Given the description of an element on the screen output the (x, y) to click on. 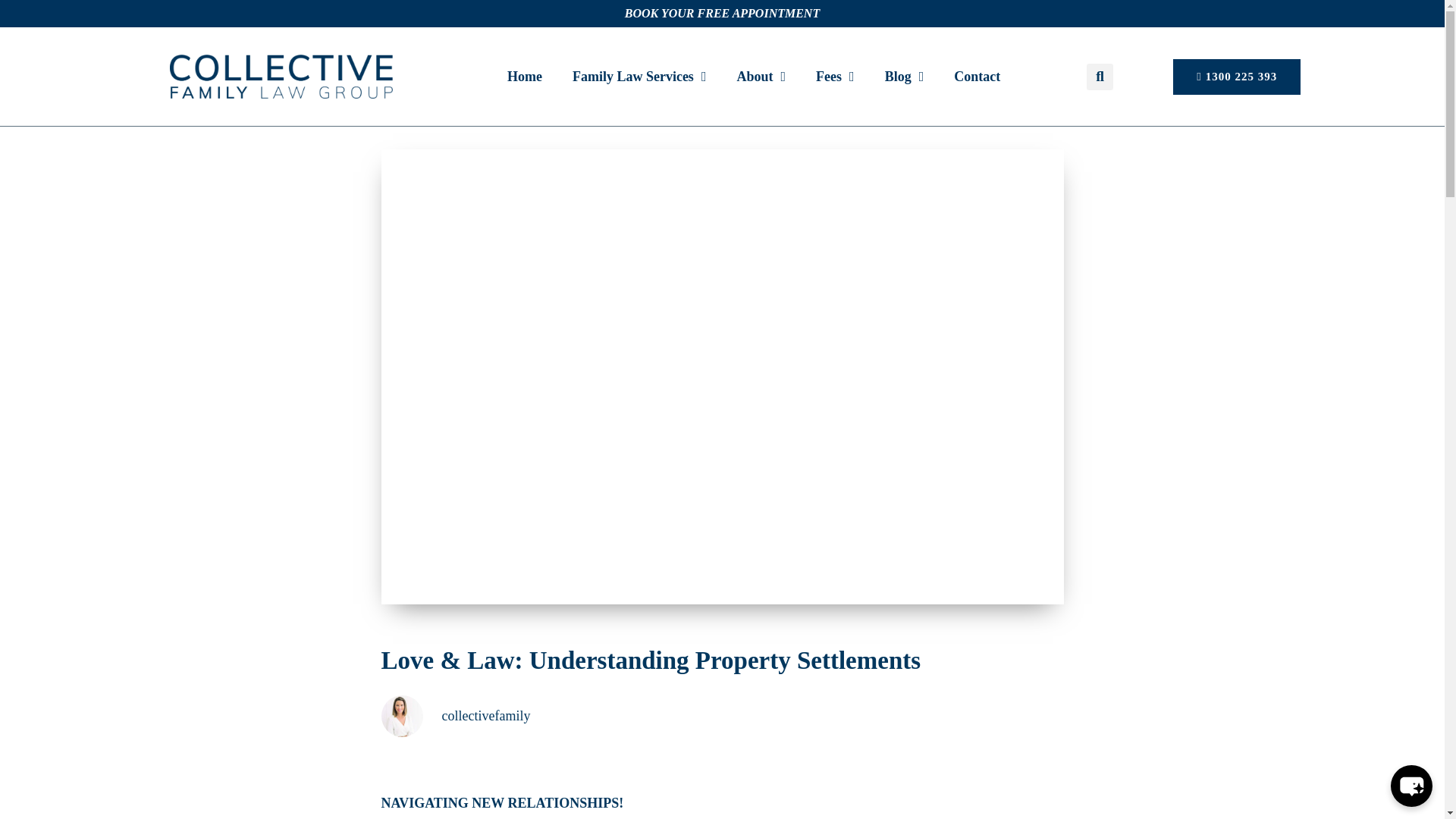
About (760, 76)
BOOK YOUR FREE APPOINTMENT (721, 12)
Blog (904, 76)
Home (524, 76)
Fees (834, 76)
Contact (976, 76)
Family Law Services (639, 76)
